Given the description of an element on the screen output the (x, y) to click on. 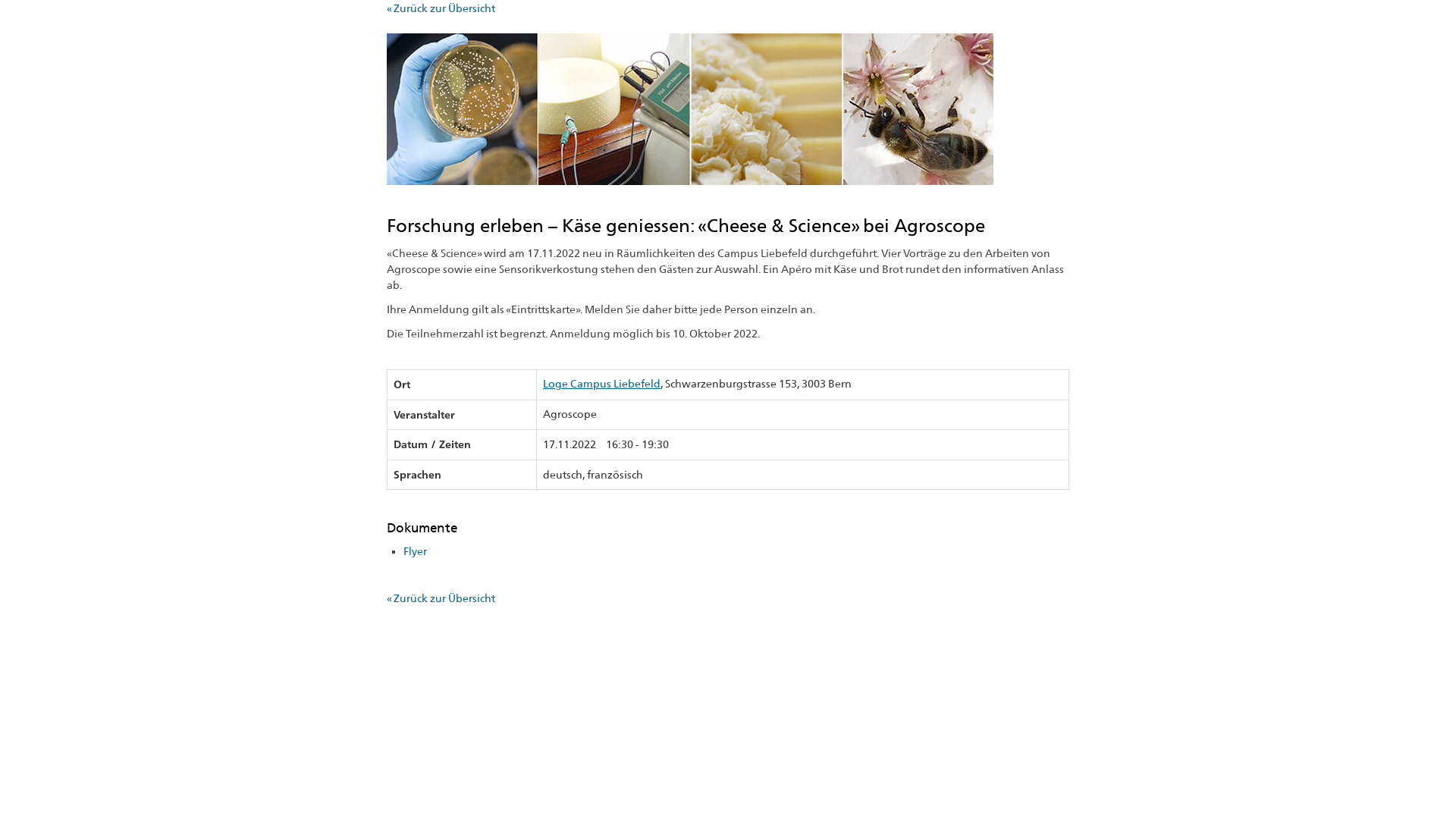
Loge Campus Liebefeld Element type: text (601, 383)
Flyer Element type: text (414, 551)
